Given the description of an element on the screen output the (x, y) to click on. 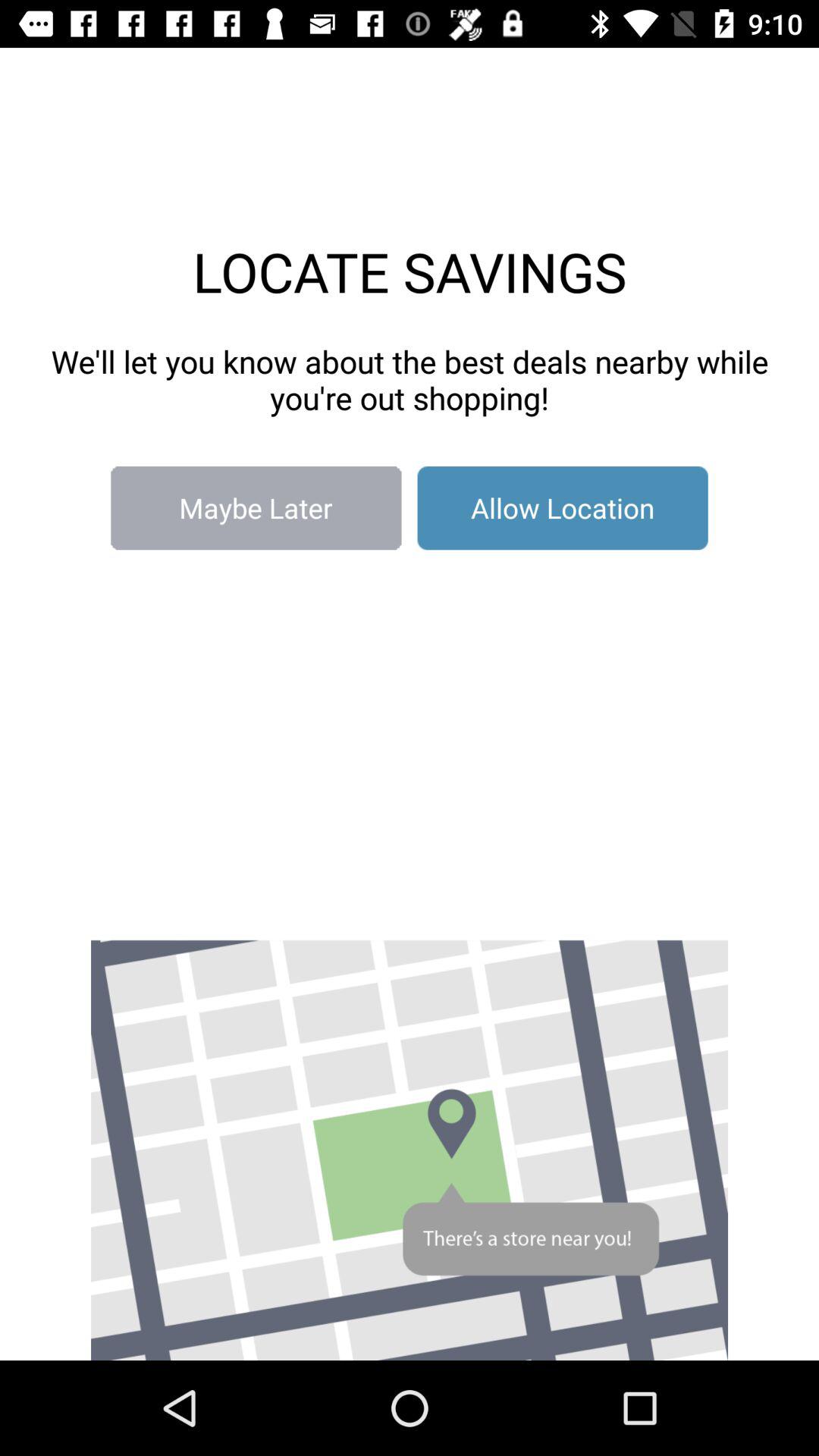
launch the app next to the allow location icon (255, 507)
